Given the description of an element on the screen output the (x, y) to click on. 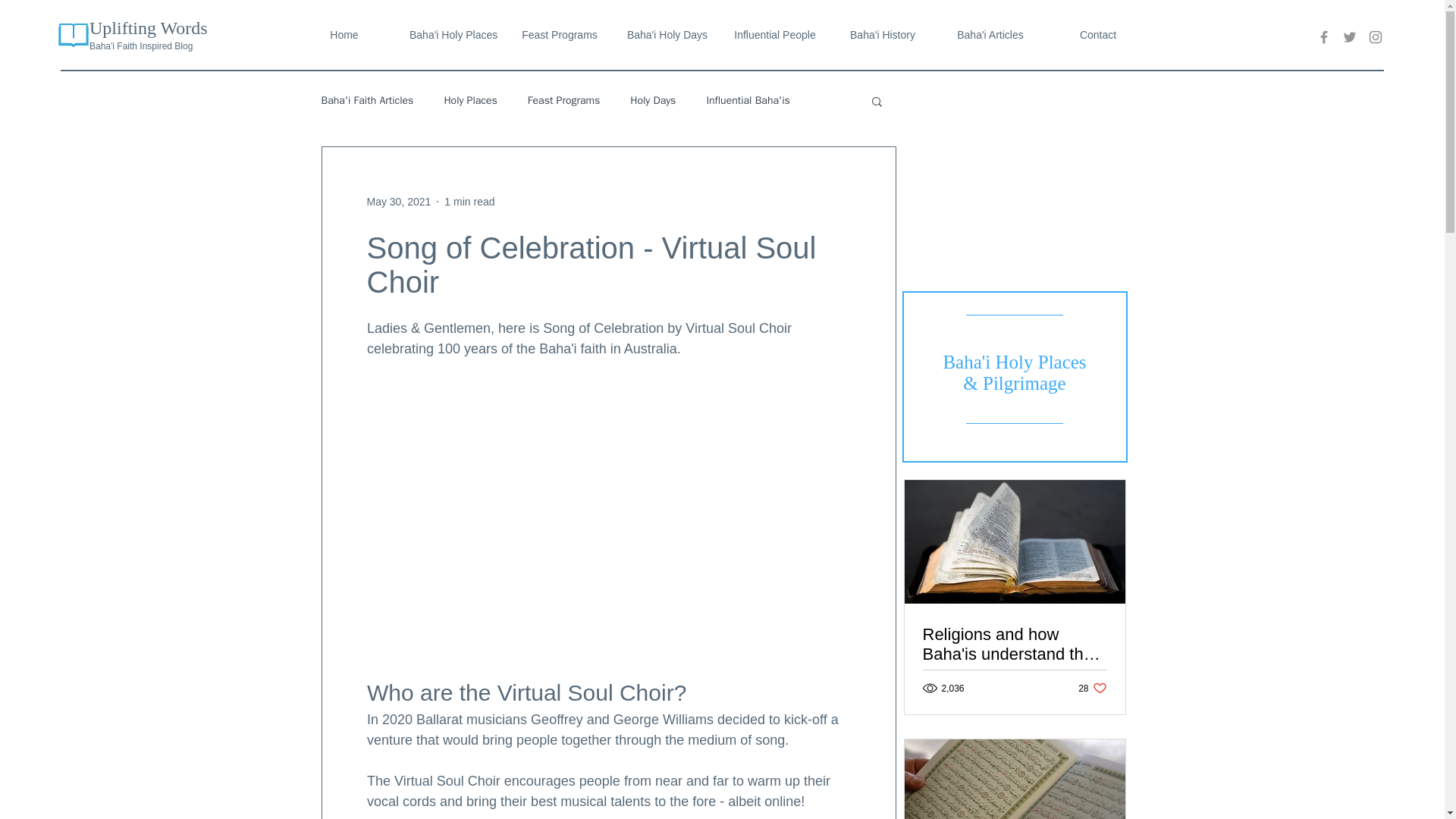
Baha'i Faith Articles (367, 100)
Baha'i Articles (989, 34)
Baha'i Holy Days (666, 34)
Baha'i History (882, 34)
Influential Baha'is (747, 100)
Uplifting Words (148, 27)
Home (343, 34)
Holy Places (470, 100)
Feast Programs (563, 100)
Baha'i Faith Inspired Blog (140, 45)
Influential People (774, 34)
Baha'i Holy Places (451, 34)
Feast Programs (558, 34)
Holy Days (652, 100)
May 30, 2021 (398, 201)
